Given the description of an element on the screen output the (x, y) to click on. 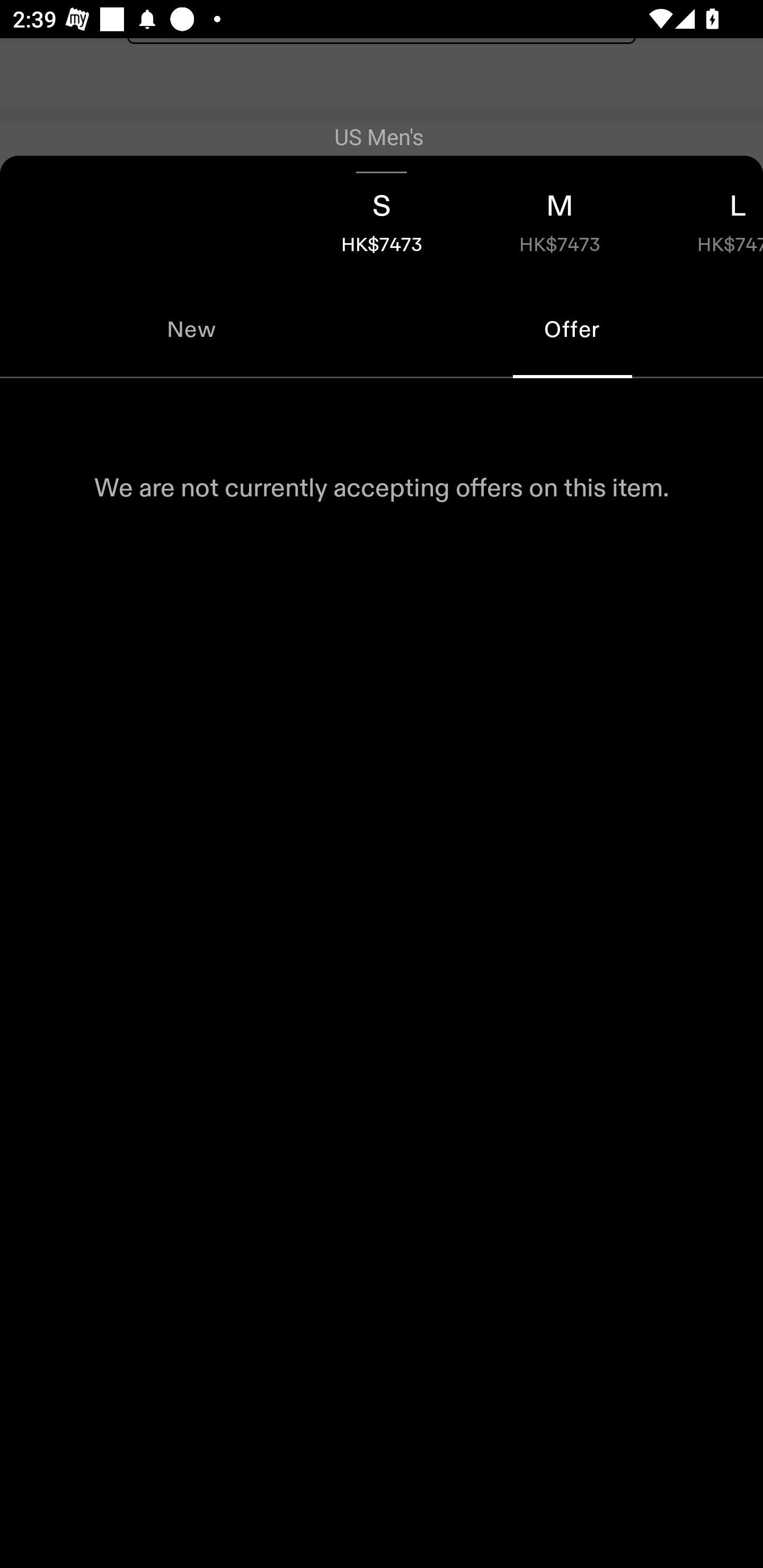
S HK$7473 (381, 218)
M HK$7473 (559, 218)
L HK$7473 (705, 218)
New (190, 329)
